Given the description of an element on the screen output the (x, y) to click on. 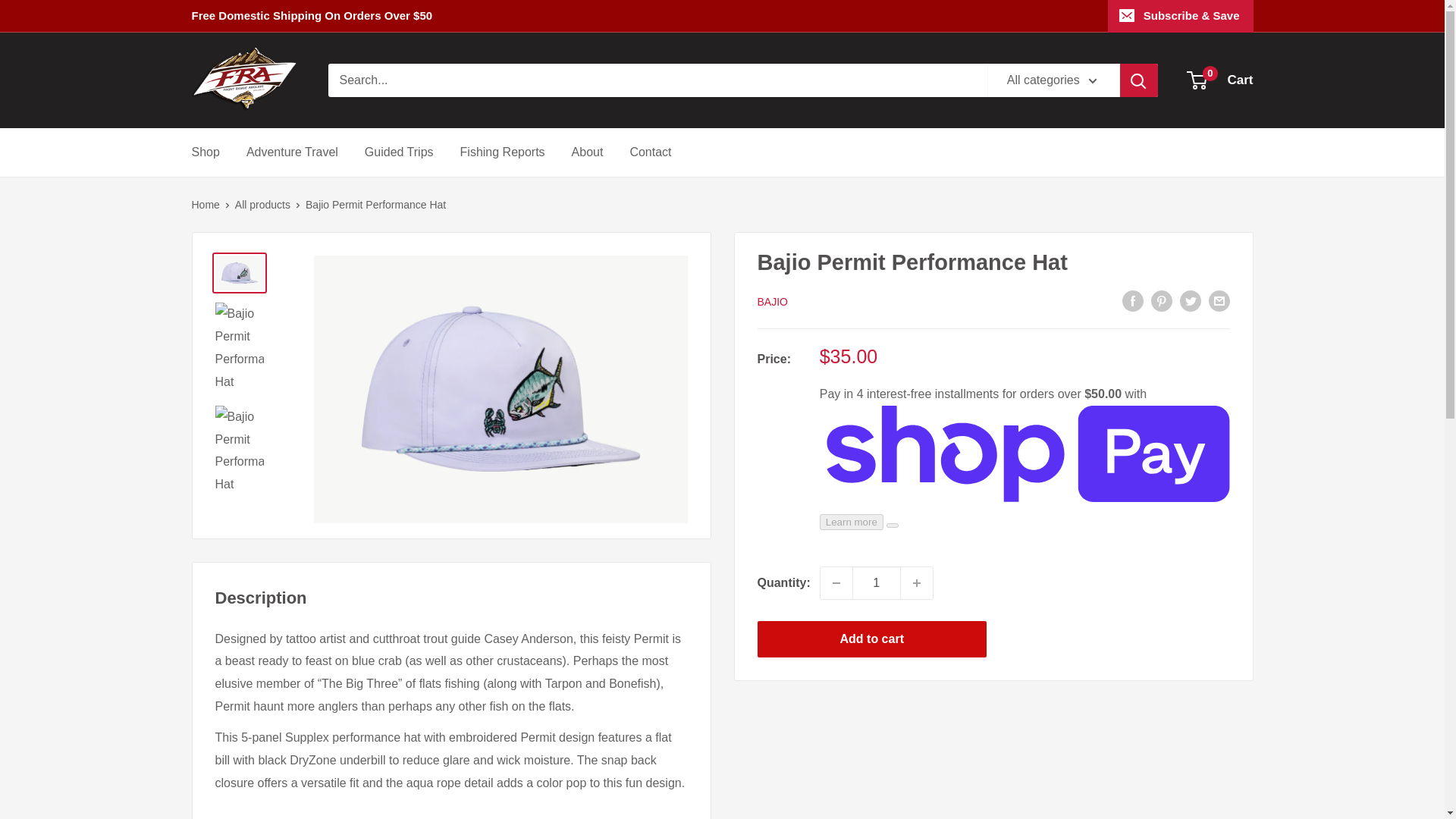
Increase quantity by 1 (917, 582)
Adventure Travel (291, 151)
Guided Trips (1220, 79)
frontrangeanglers (399, 151)
Contact (243, 80)
About (649, 151)
Home (588, 151)
Fishing Reports (204, 204)
Shop (502, 151)
